Given the description of an element on the screen output the (x, y) to click on. 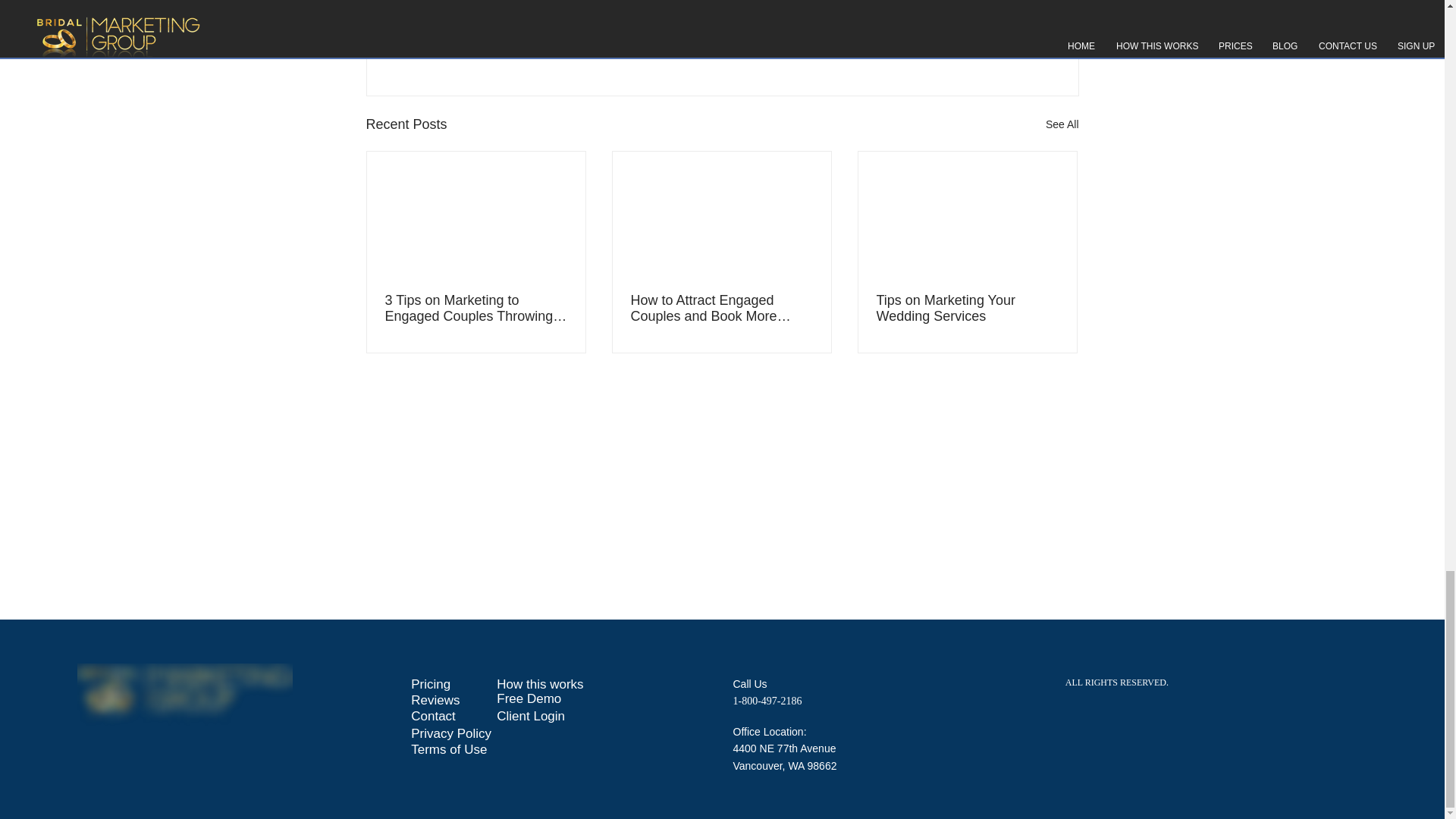
Reviews (443, 700)
Contact (443, 715)
How to Attract Engaged Couples and Book More Weddings (721, 308)
Free Demo (539, 698)
How this works (539, 683)
Tips on Marketing Your Wedding Services (967, 308)
Client Login (539, 715)
Terms of Use (453, 749)
Privacy Policy (451, 733)
Pricing (435, 683)
See All (1061, 124)
